Given the description of an element on the screen output the (x, y) to click on. 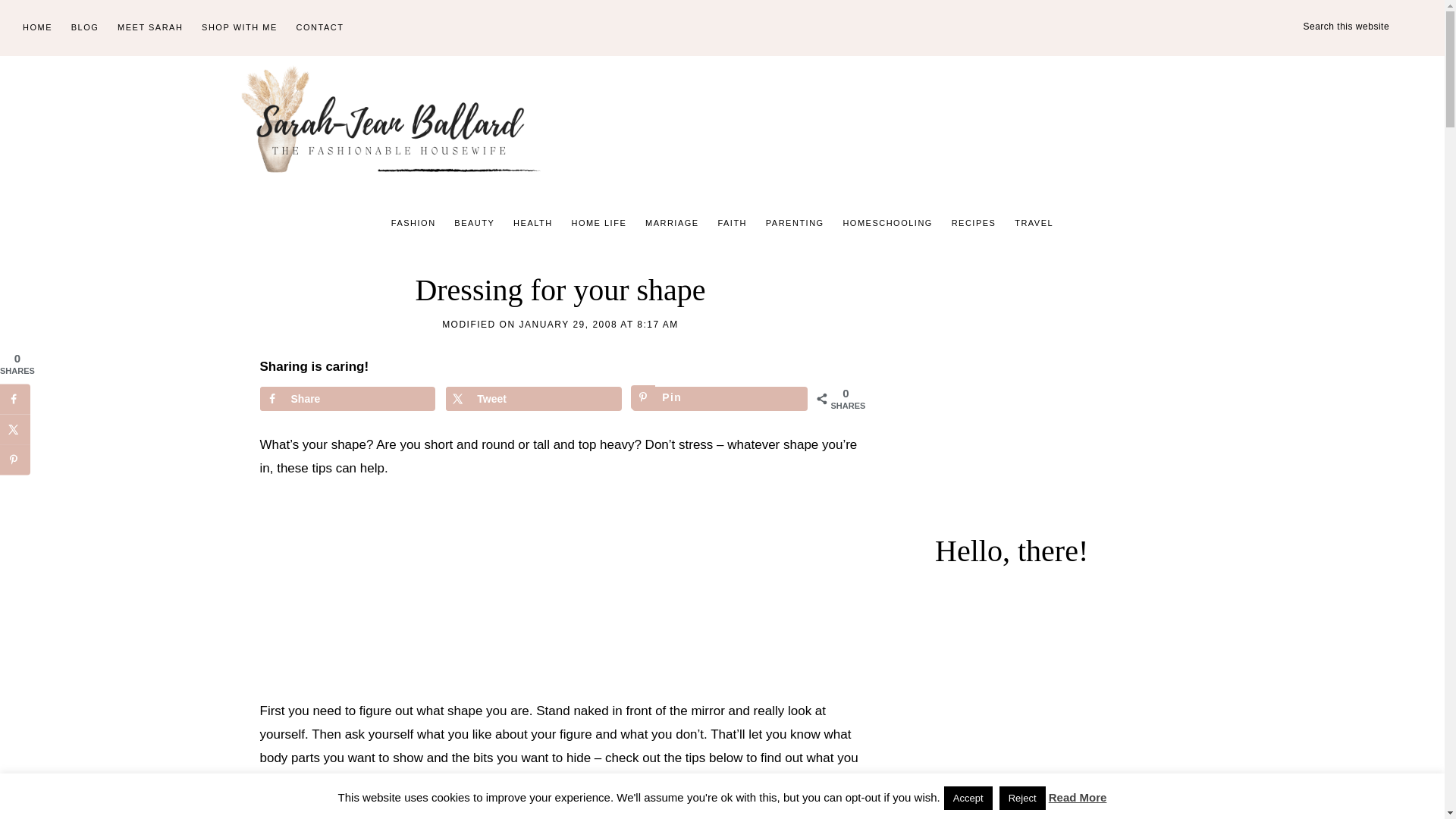
CONTACT (320, 27)
Share on Facebook (346, 398)
Save to Pinterest (719, 398)
MEET SARAH (150, 27)
Share on X (533, 398)
FASHION (414, 223)
BEAUTY (474, 223)
SHOP WITH ME (239, 27)
